Given the description of an element on the screen output the (x, y) to click on. 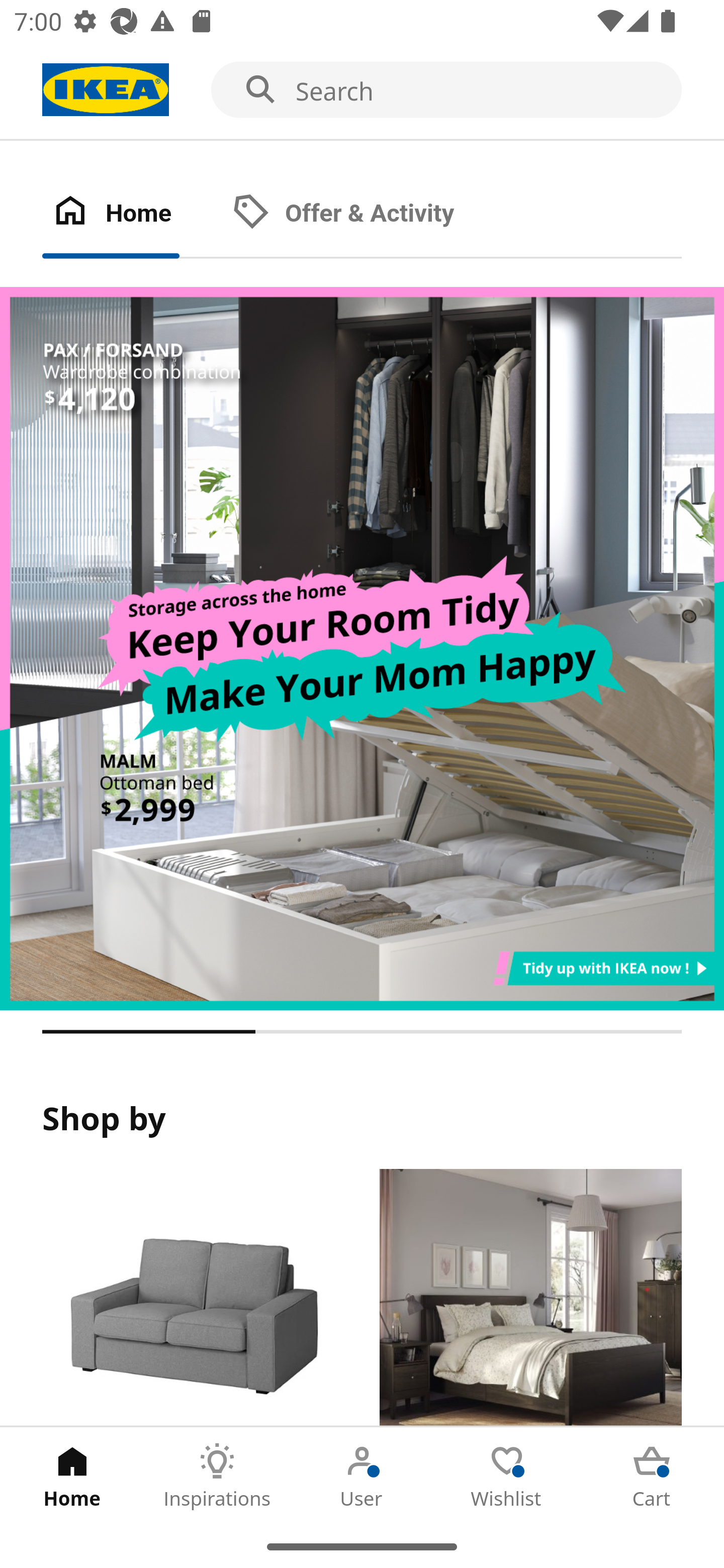
Search (361, 90)
Home
Tab 1 of 2 (131, 213)
Offer & Activity
Tab 2 of 2 (363, 213)
Products (192, 1297)
Rooms (530, 1297)
Home
Tab 1 of 5 (72, 1476)
Inspirations
Tab 2 of 5 (216, 1476)
User
Tab 3 of 5 (361, 1476)
Wishlist
Tab 4 of 5 (506, 1476)
Cart
Tab 5 of 5 (651, 1476)
